Given the description of an element on the screen output the (x, y) to click on. 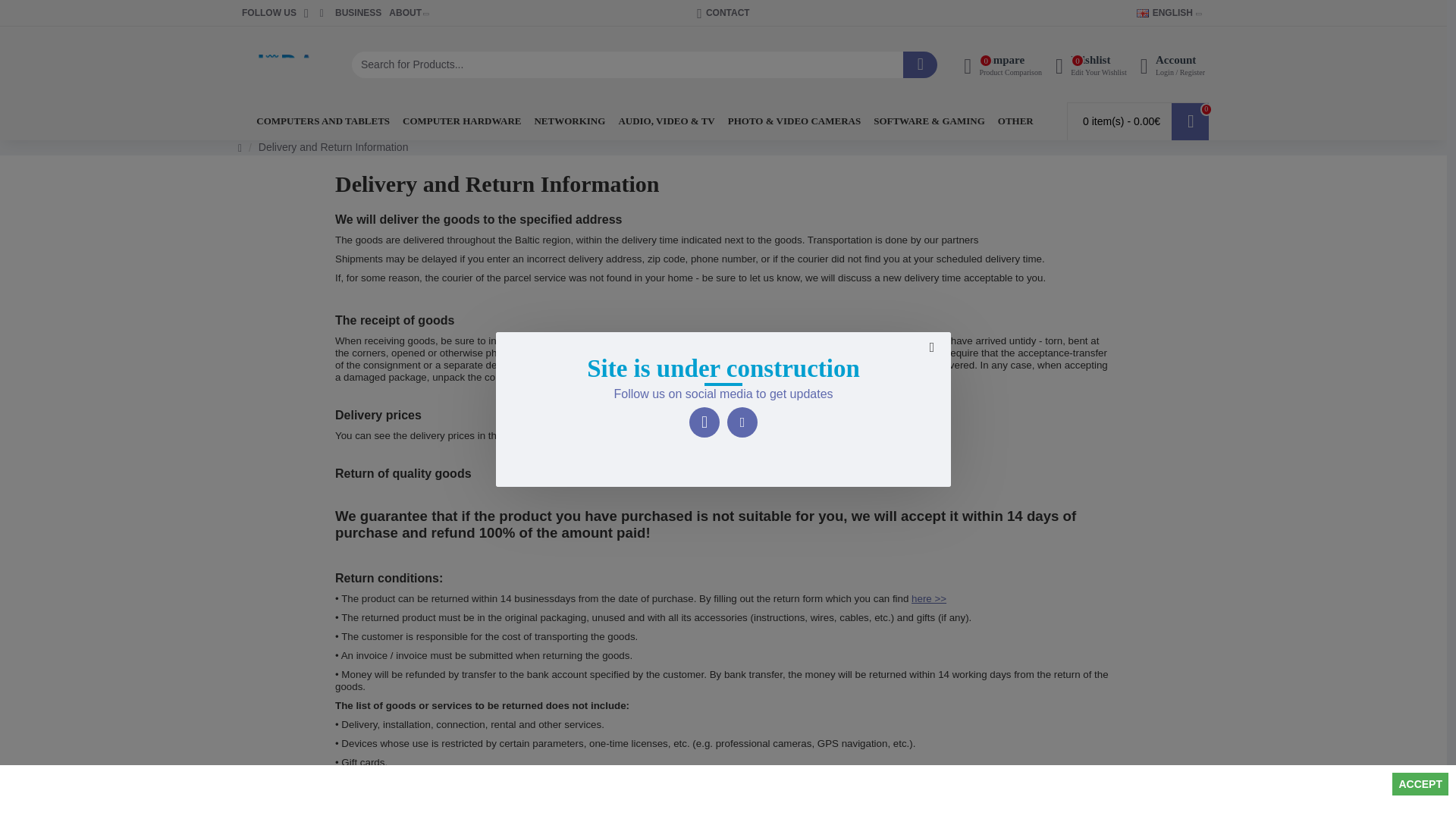
English (1091, 64)
eJura (1002, 64)
COMPUTERS AND TABLETS (1142, 13)
BUSINESS (276, 64)
ENGLISH (322, 121)
Instagram (358, 13)
CONTACT (1164, 12)
FOLLOW US (741, 422)
ABOUT (722, 13)
Facebook (268, 13)
